Given the description of an element on the screen output the (x, y) to click on. 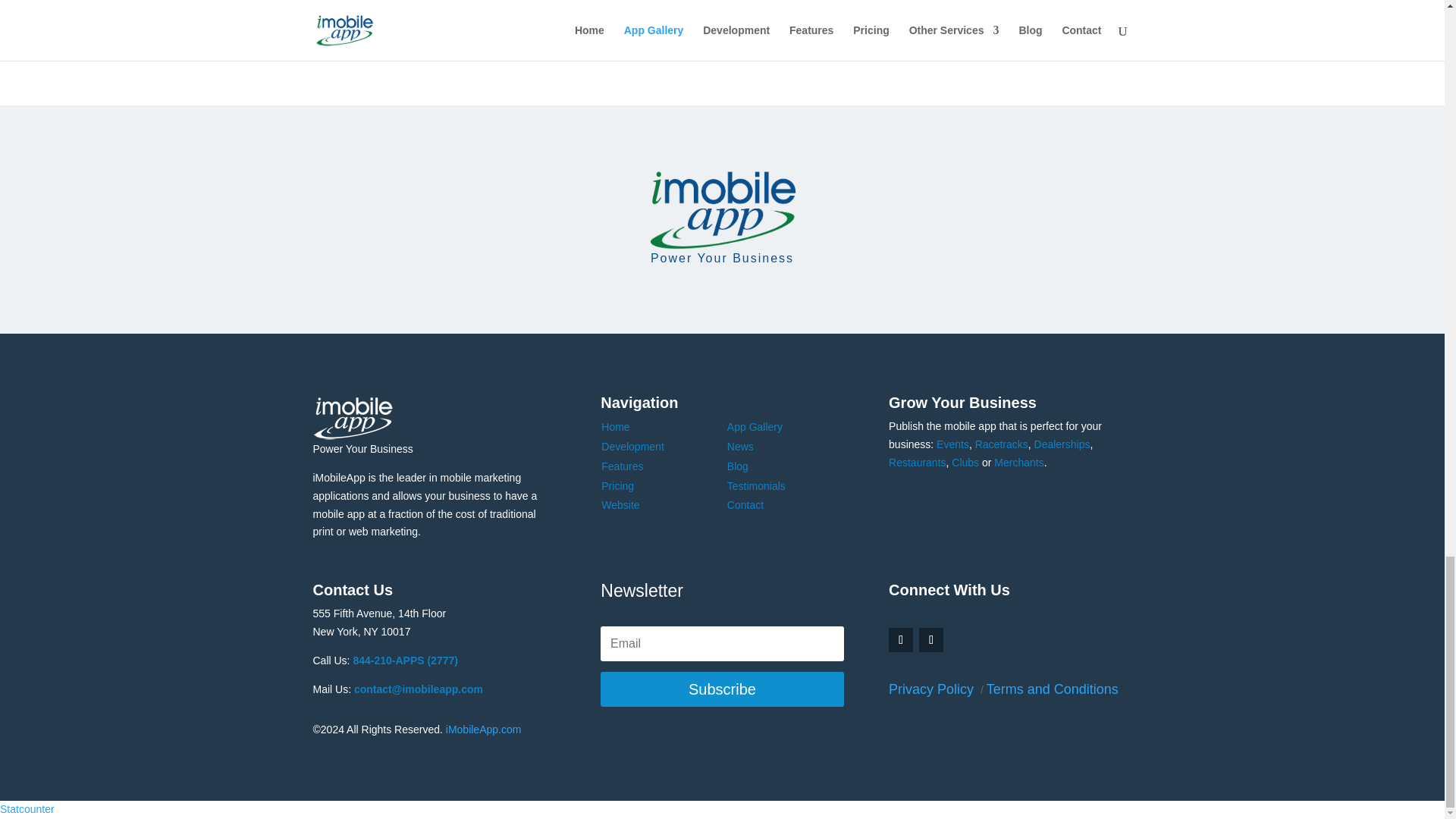
Page 24 (886, 7)
Page 16 (854, 7)
Page 6 (655, 7)
Page 9 (733, 7)
Page 8 (707, 7)
Read our Privacy Policy (932, 688)
Follow on X (930, 639)
Page 32 (918, 7)
Page 4 (603, 7)
Page 10 (762, 7)
Page 11 (793, 7)
Page 5 (630, 7)
Follow on Facebook (900, 639)
